Given the description of an element on the screen output the (x, y) to click on. 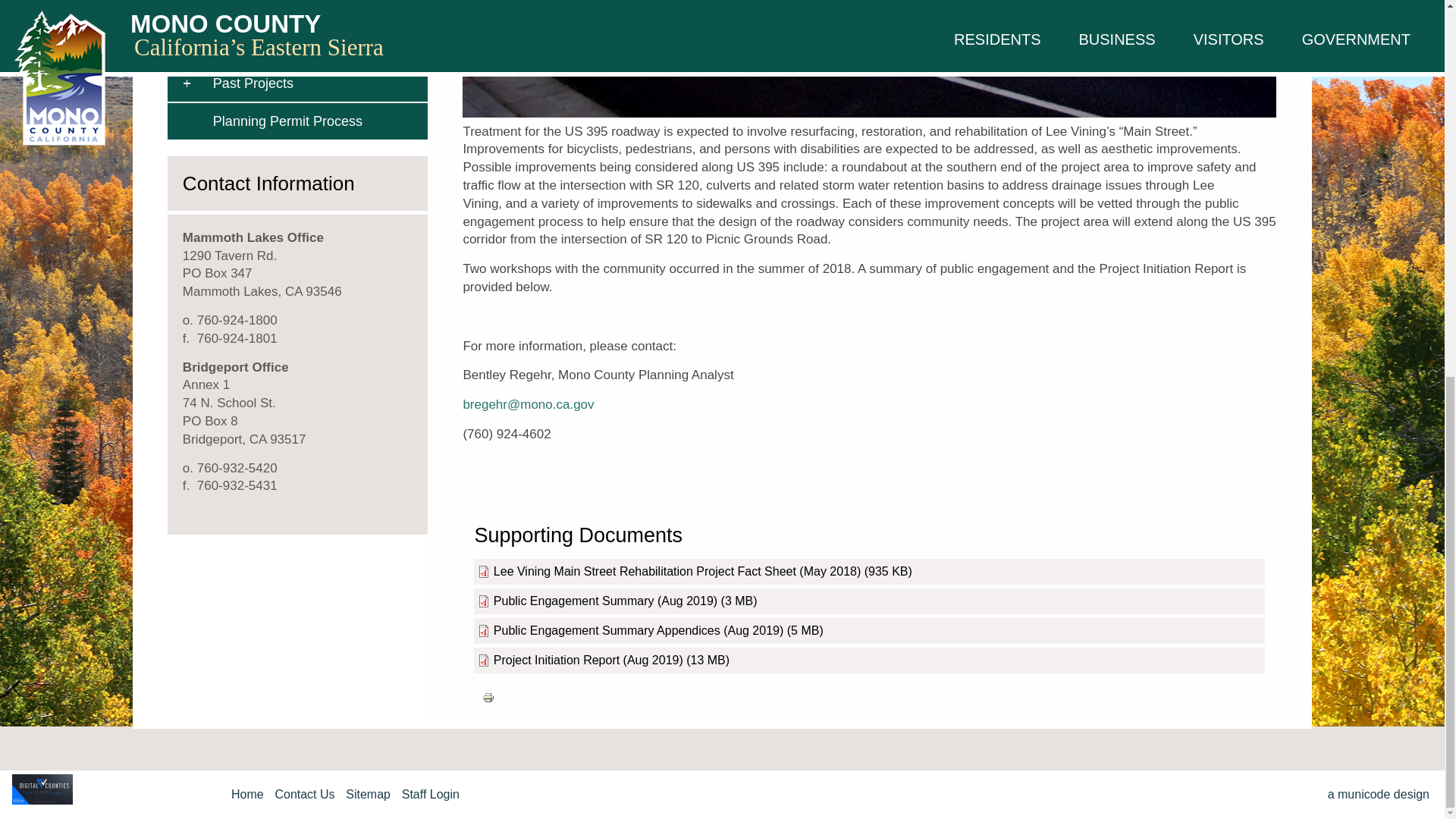
pir.pdf (587, 659)
Printer-friendly version (488, 697)
